Given the description of an element on the screen output the (x, y) to click on. 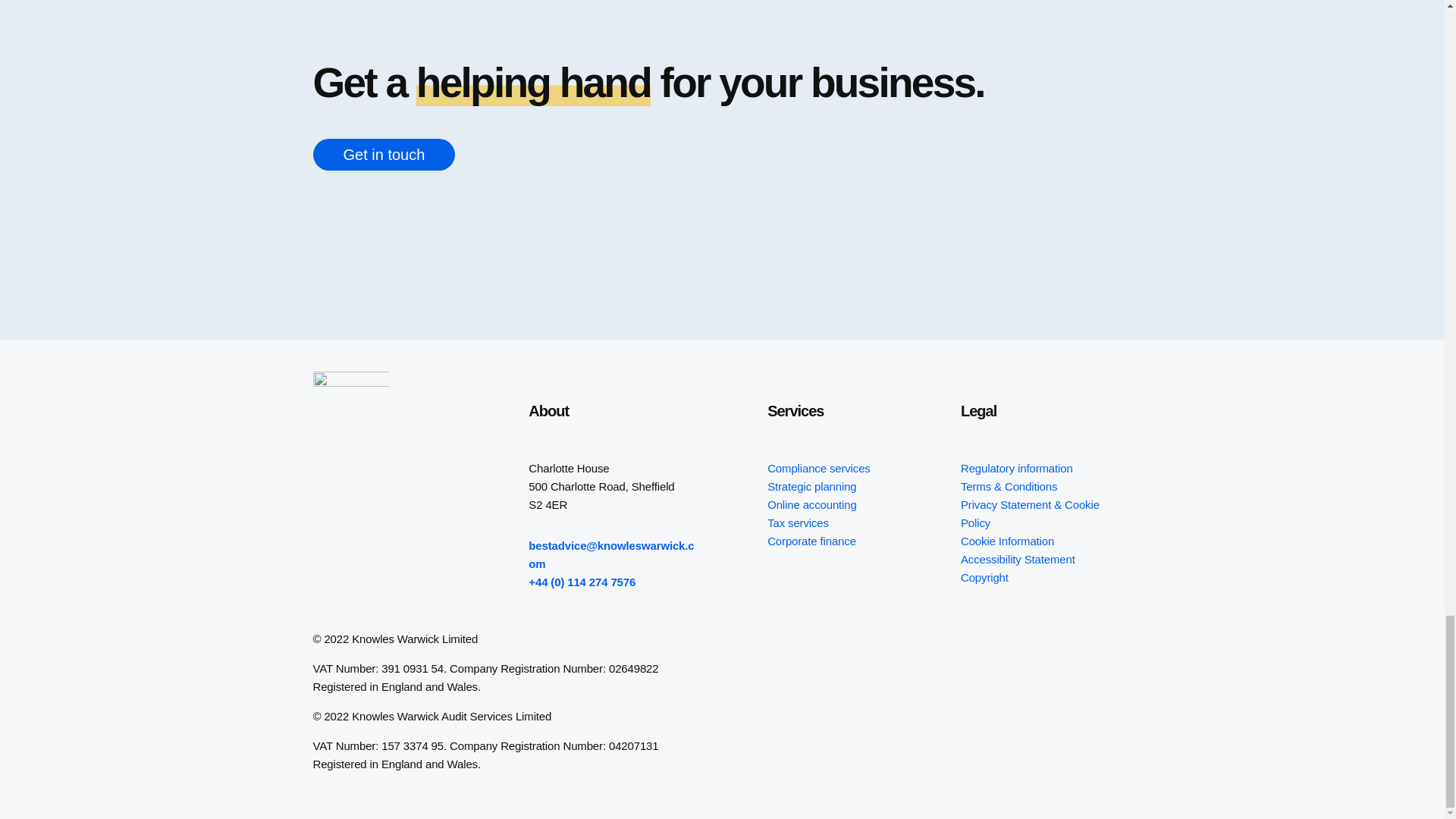
Email Knowles Warwick (611, 554)
